Given the description of an element on the screen output the (x, y) to click on. 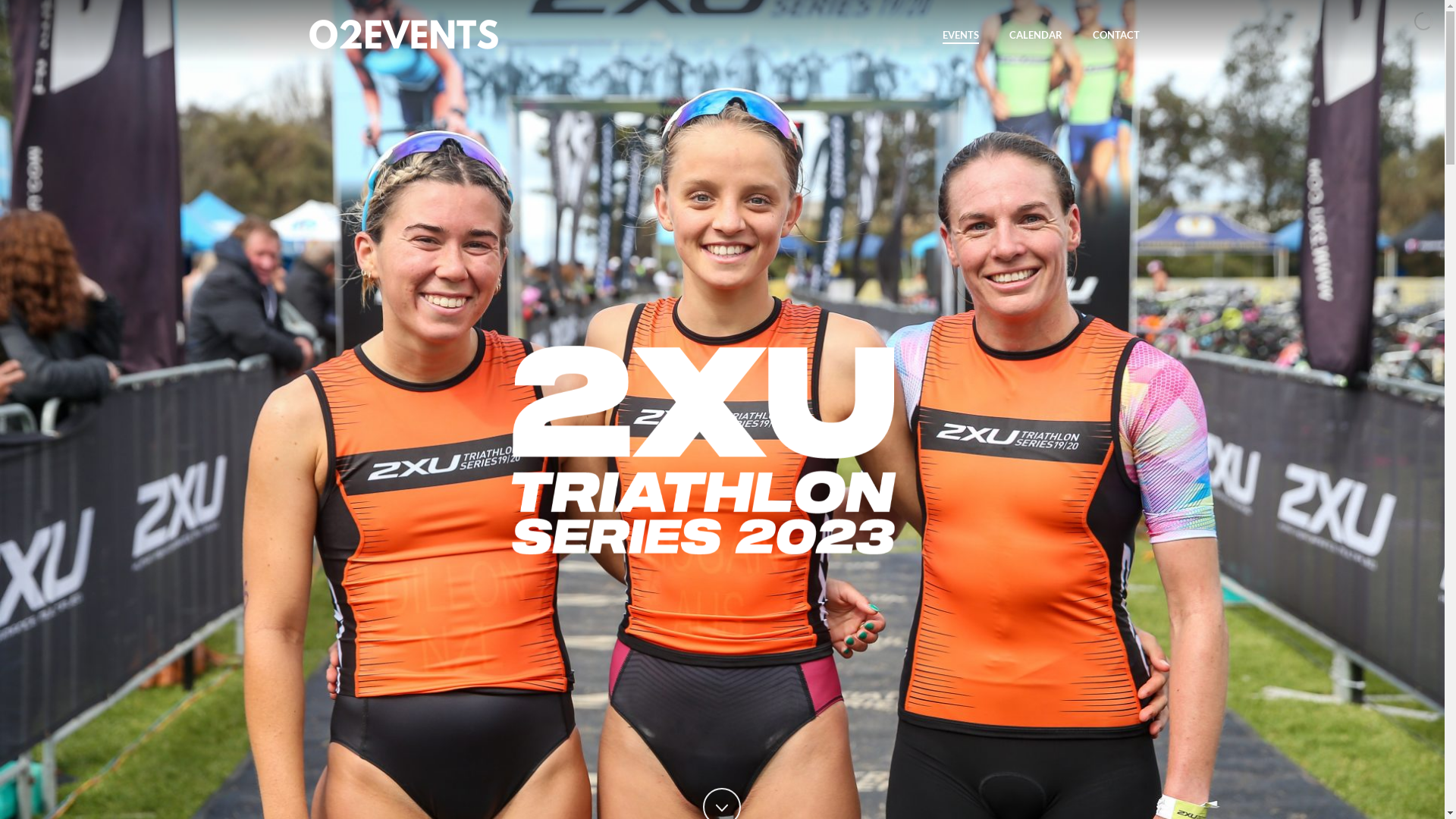
CALENDAR Element type: text (1034, 34)
O2 Events Element type: hover (403, 34)
CONTACT Element type: text (1115, 34)
EVENTS Element type: text (959, 34)
